Given the description of an element on the screen output the (x, y) to click on. 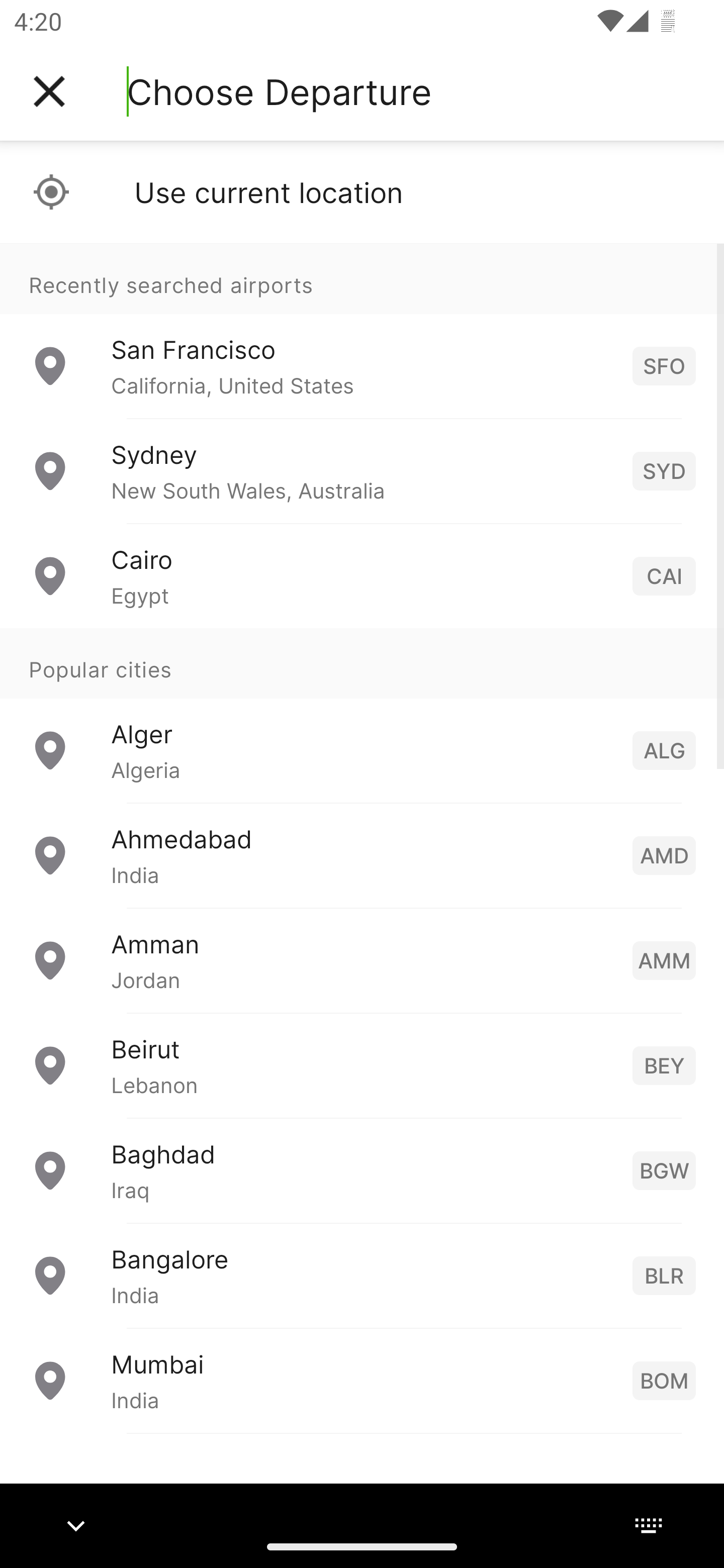
Choose Departure (279, 91)
Use current location (362, 192)
Recently searched airports (362, 278)
Sydney New South Wales, Australia SYD (362, 470)
Cairo Egypt CAI (362, 575)
Popular cities Alger Algeria ALG (362, 715)
Popular cities (362, 663)
Ahmedabad India AMD (362, 854)
Amman Jordan AMM (362, 959)
Beirut Lebanon BEY (362, 1064)
Baghdad Iraq BGW (362, 1170)
Bangalore India BLR (362, 1275)
Mumbai India BOM (362, 1380)
